Given the description of an element on the screen output the (x, y) to click on. 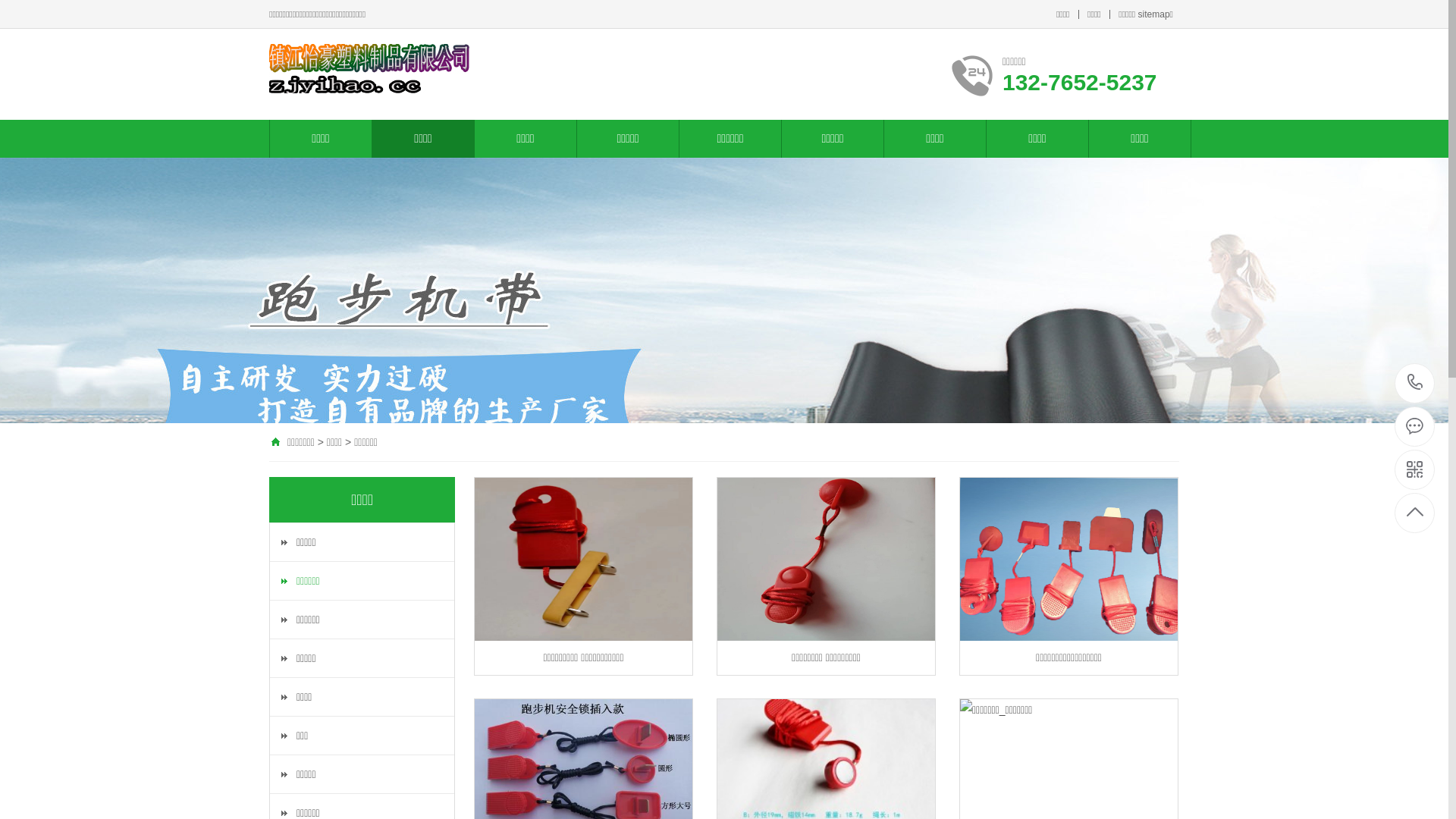
132-7652-5237 Element type: text (1415, 383)
sitemap Element type: text (1154, 14)
